Given the description of an element on the screen output the (x, y) to click on. 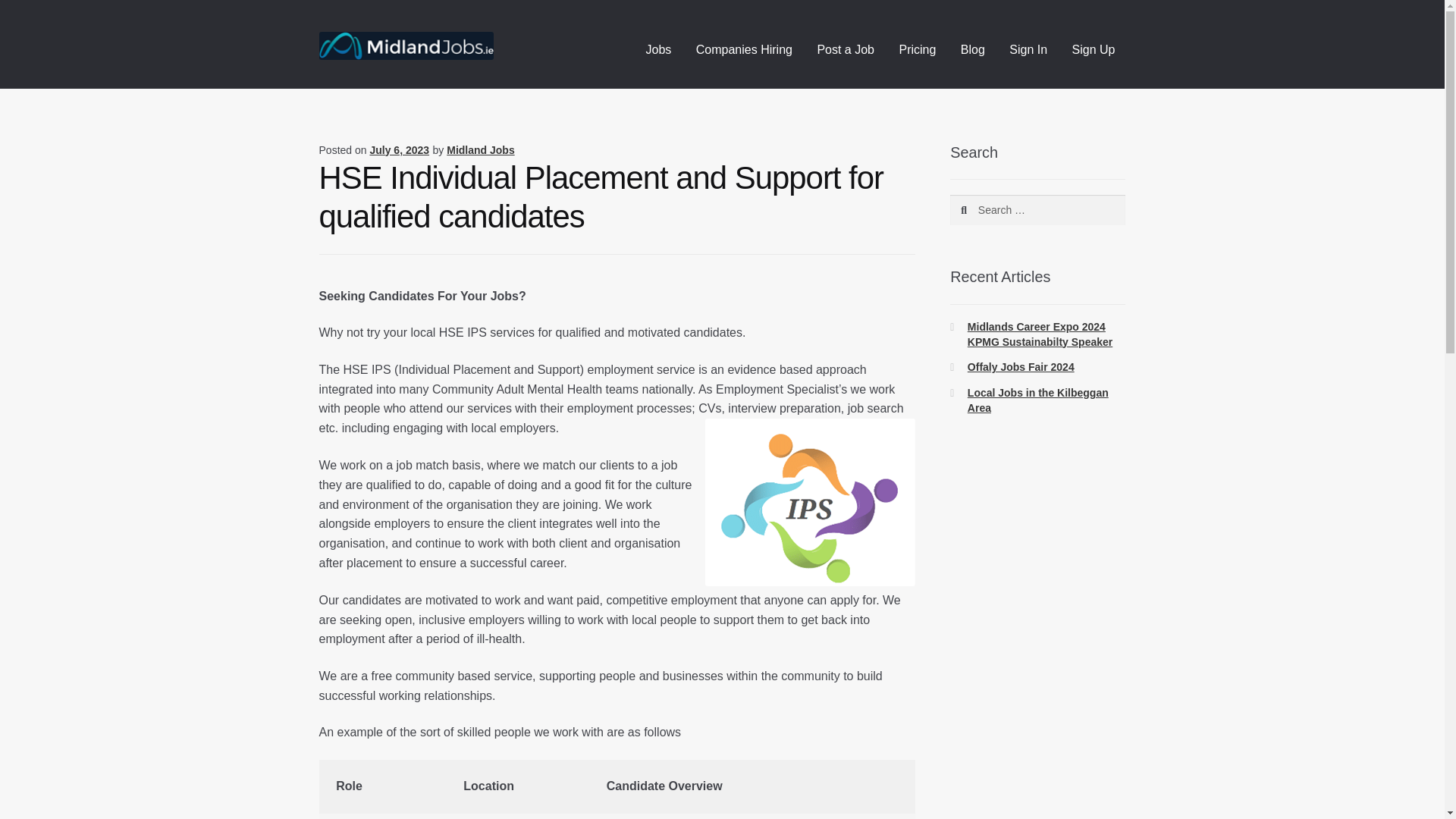
July 6, 2023 (399, 150)
Blog (972, 49)
Jobs (658, 49)
Companies Hiring (744, 49)
Offaly Jobs Fair 2024 (1021, 367)
Pricing (917, 49)
Post a Job (845, 49)
